Given the description of an element on the screen output the (x, y) to click on. 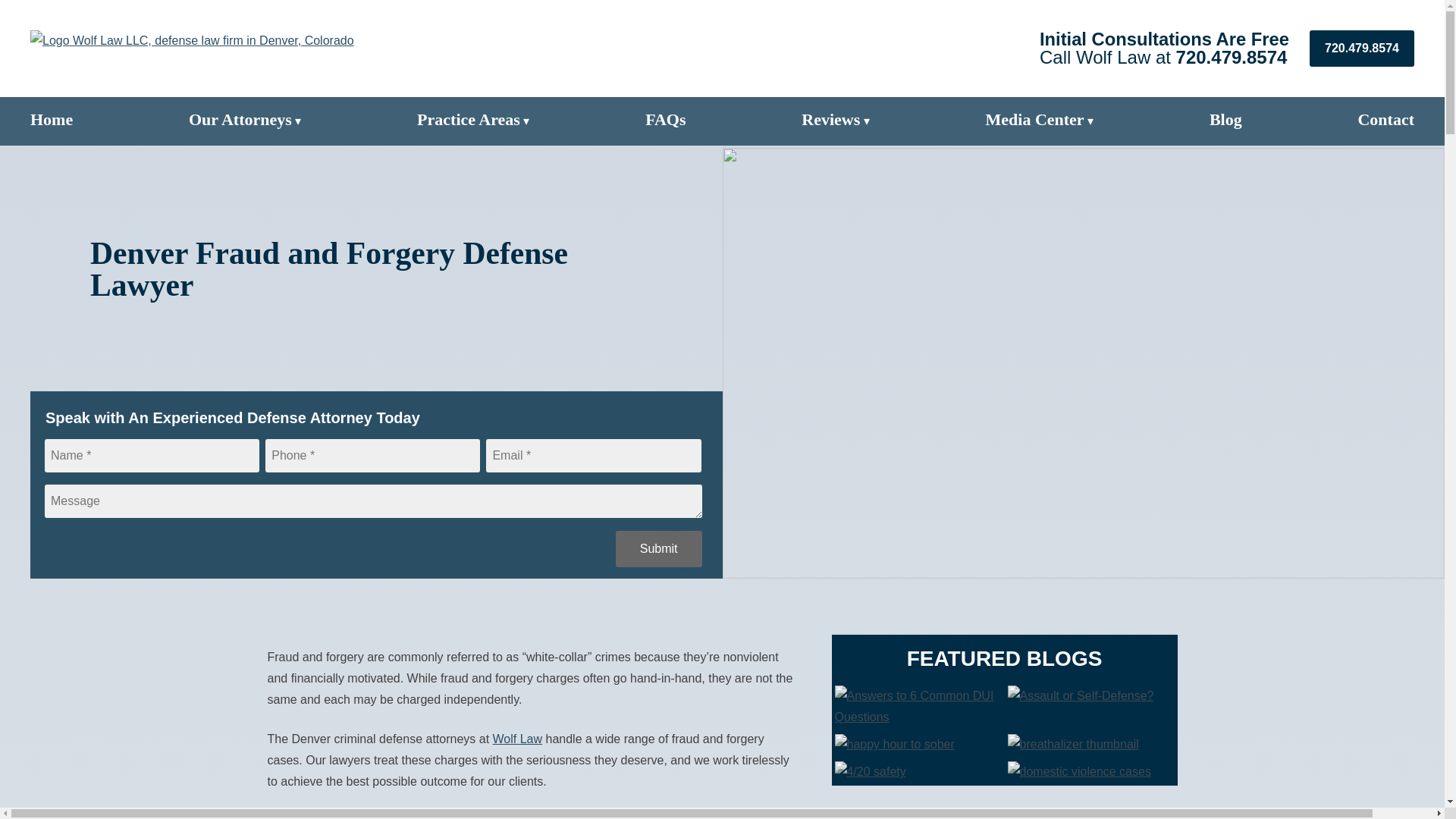
720.479.8574 (1231, 56)
Submit (658, 548)
Click to call Wolf Law (1231, 56)
